Given the description of an element on the screen output the (x, y) to click on. 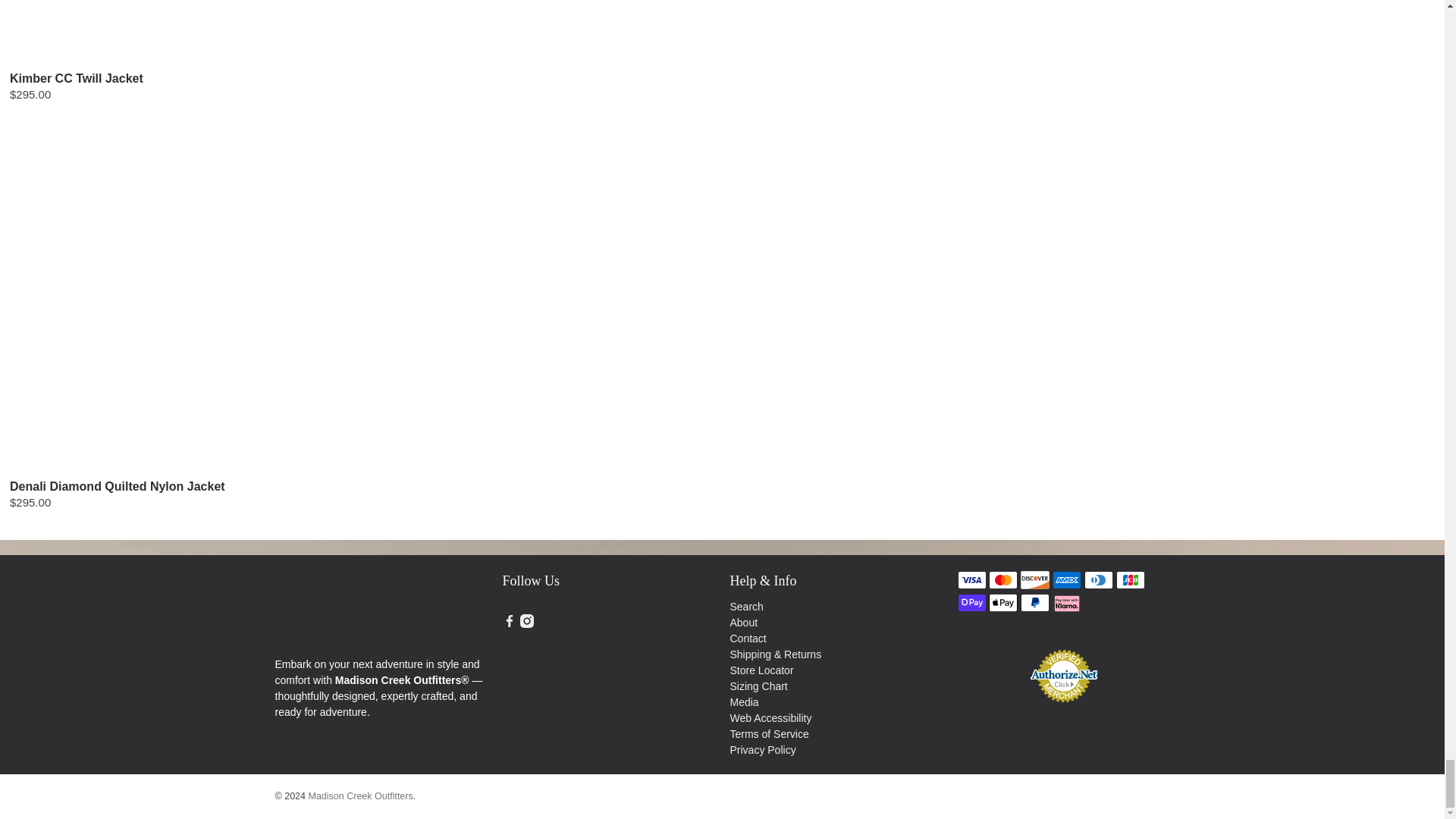
Apple Pay (1002, 602)
JCB (1130, 579)
Mastercard (1002, 579)
Shop Pay (970, 602)
PayPal (1034, 602)
Visa (970, 579)
American Express (1066, 579)
Diners Club (1098, 579)
